Given the description of an element on the screen output the (x, y) to click on. 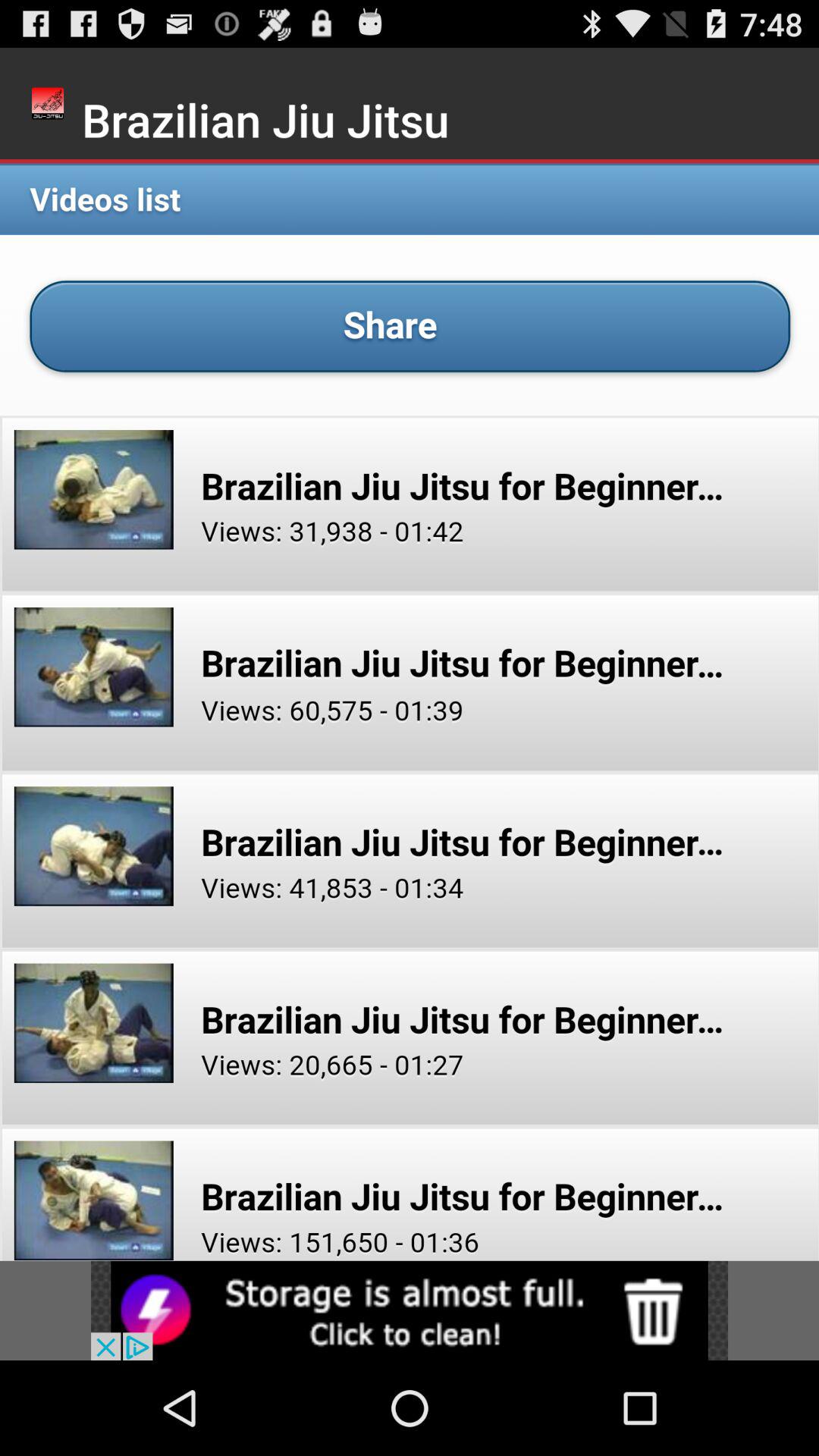
click advertisement for storage cleaning (409, 1310)
